Given the description of an element on the screen output the (x, y) to click on. 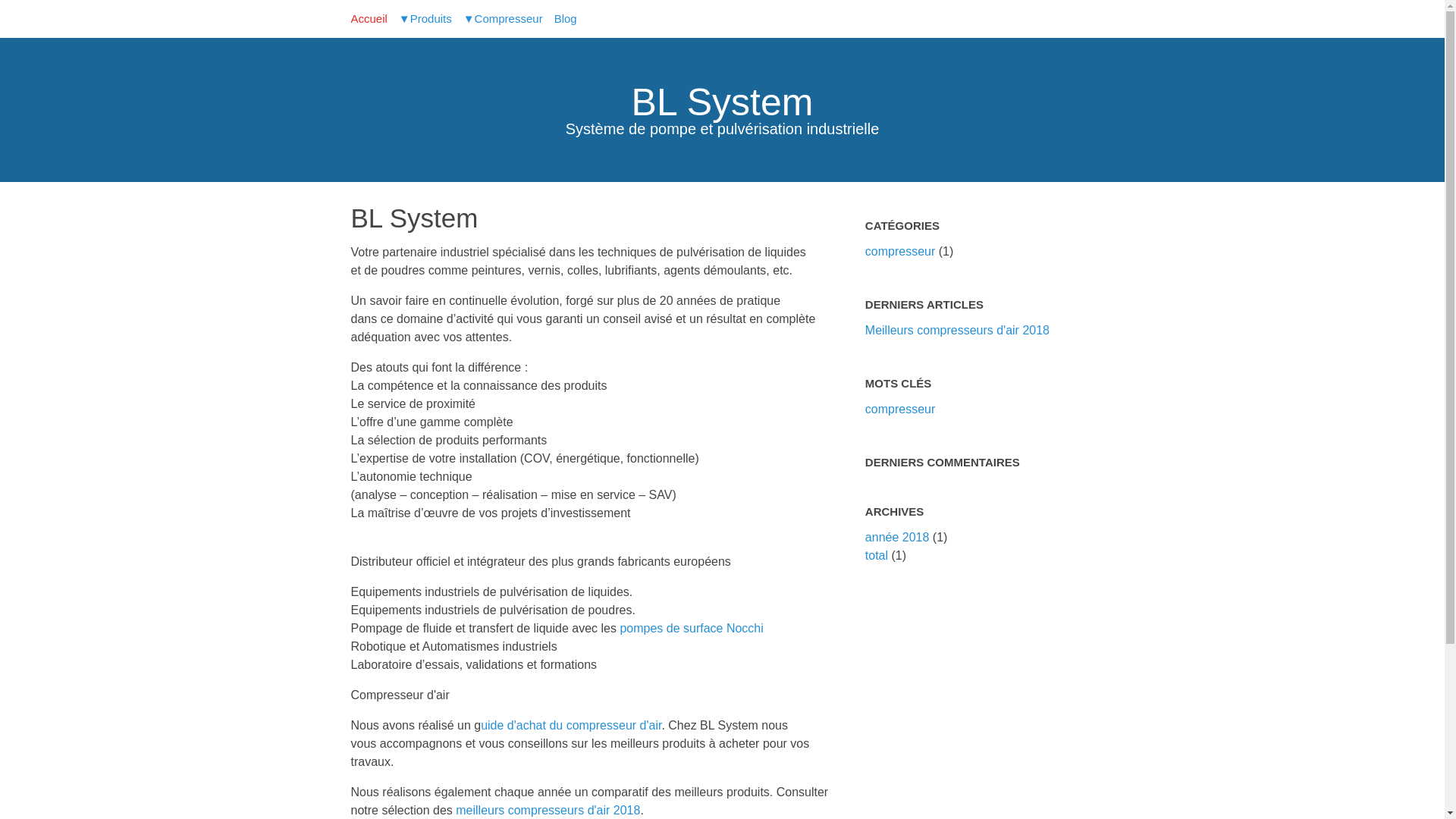
compresseur Element type: text (900, 408)
compresseur Element type: text (900, 250)
BL System Element type: text (722, 102)
Blog Element type: text (565, 18)
Meilleurs compresseurs d'air 2018 Element type: text (957, 329)
meilleurs compresseurs d'air 2018 Element type: text (547, 809)
pompes de surface Nocchi Element type: text (690, 627)
Accueil Element type: text (368, 18)
total Element type: text (878, 555)
uide d'achat du compresseur d'air Element type: text (570, 724)
